Given the description of an element on the screen output the (x, y) to click on. 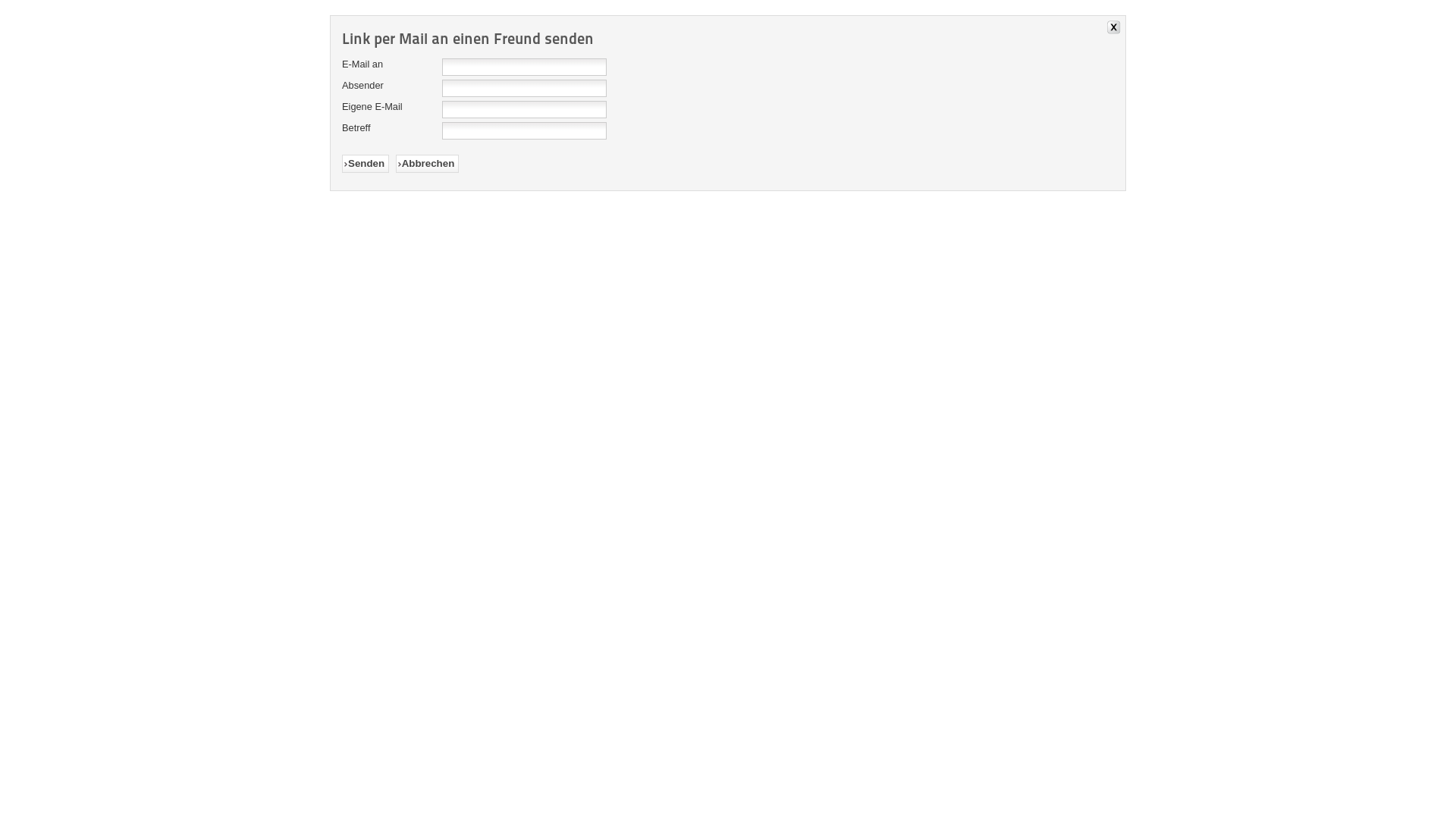
Abbrechen Element type: text (427, 163)
Senden Element type: text (365, 163)
